Given the description of an element on the screen output the (x, y) to click on. 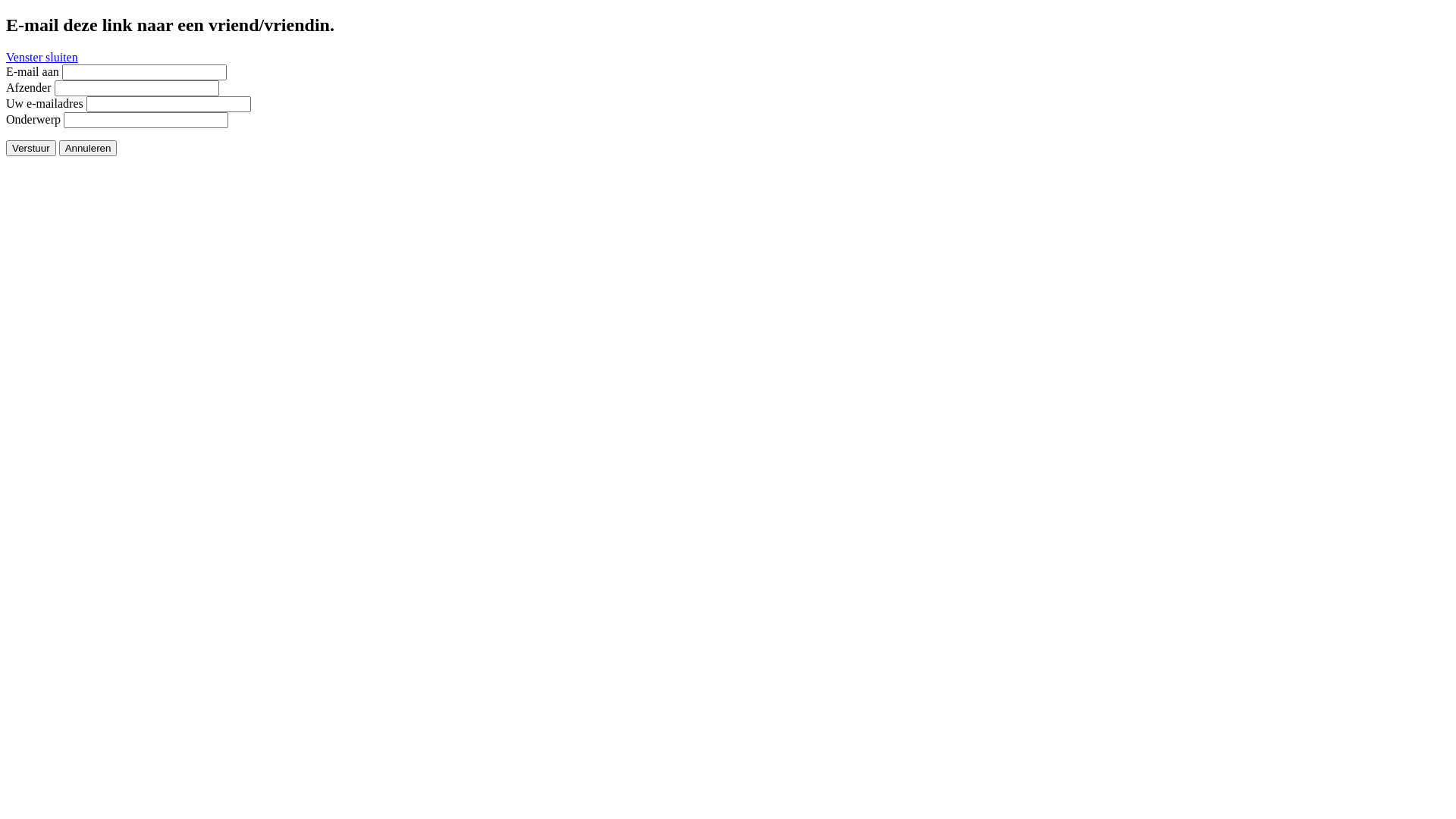
Venster sluiten Element type: text (42, 56)
Annuleren Element type: text (88, 148)
Verstuur Element type: text (31, 148)
